Given the description of an element on the screen output the (x, y) to click on. 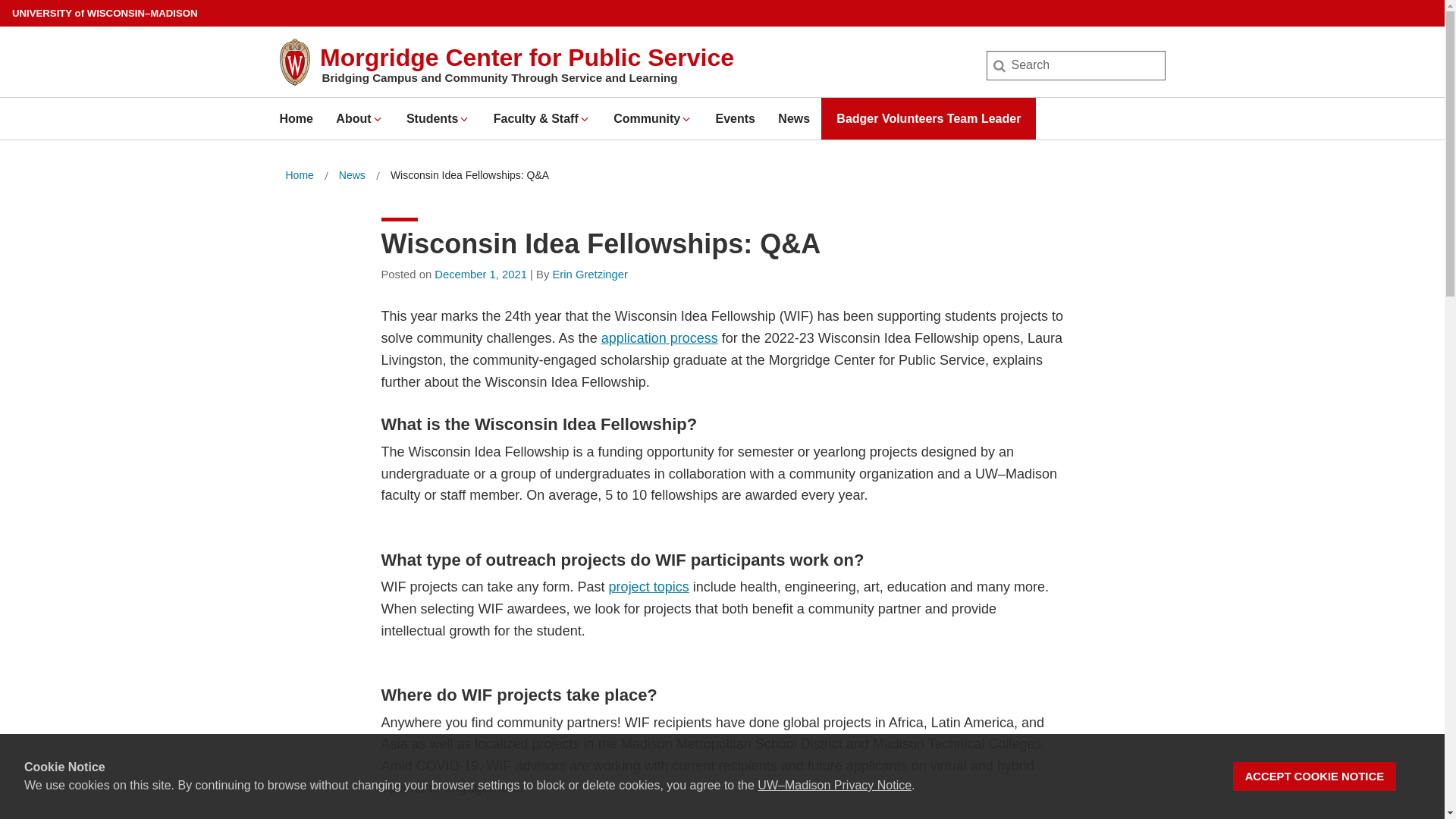
Expand (377, 119)
Skip to main content (3, 3)
Morgridge Center for Public Service (526, 57)
ACCEPT COOKIE NOTICE (1314, 776)
Home (299, 175)
Expand (686, 119)
News (352, 175)
Expand (464, 119)
Home (296, 118)
Students Expand (438, 118)
